Given the description of an element on the screen output the (x, y) to click on. 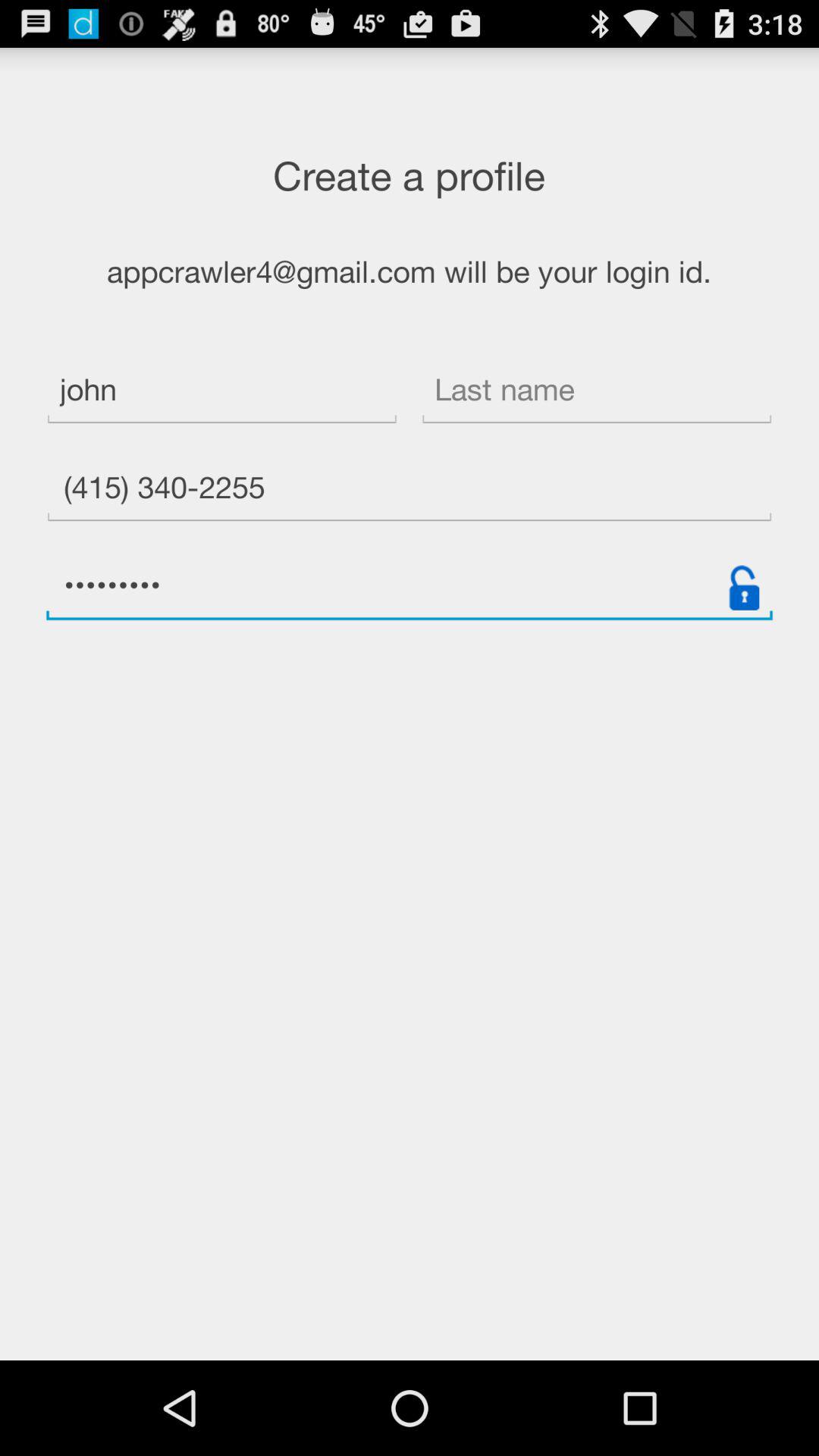
turn off the icon on the right (744, 587)
